Given the description of an element on the screen output the (x, y) to click on. 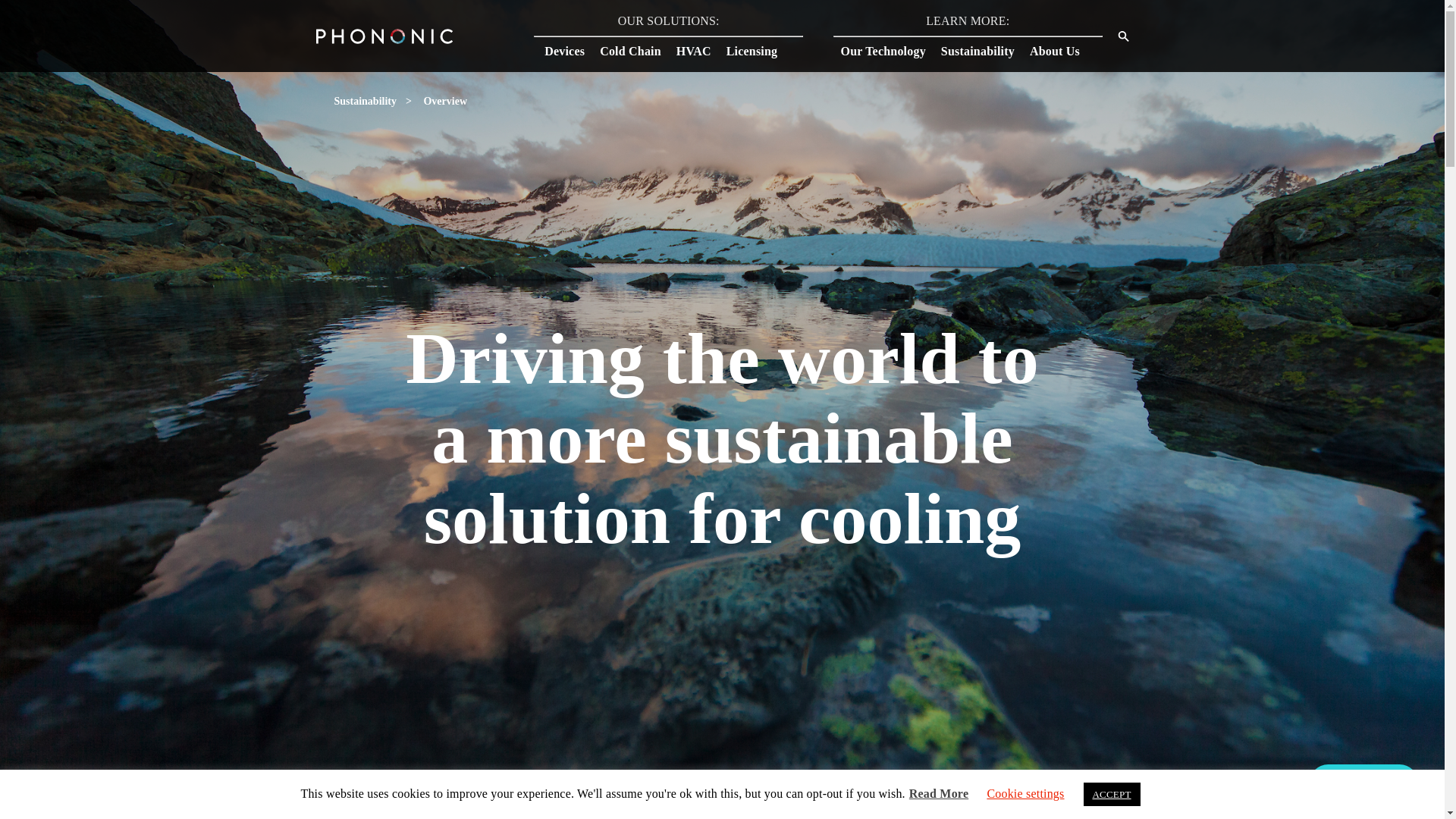
Our Technology (890, 50)
Sustainability (984, 50)
Devices (571, 50)
Cold Chain (638, 50)
About Us (1061, 50)
HVAC (701, 50)
Licensing (759, 50)
